Given the description of an element on the screen output the (x, y) to click on. 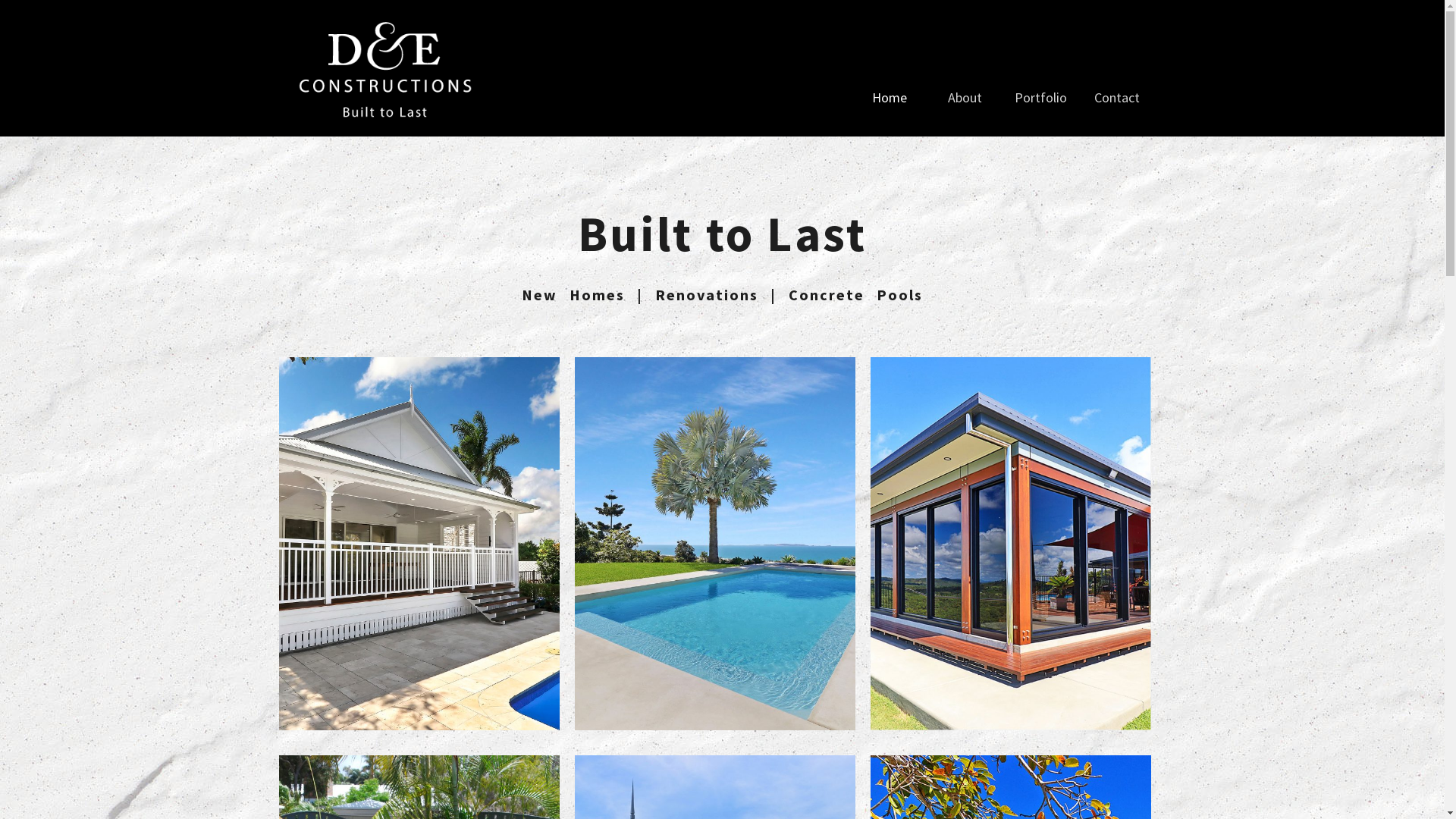
Portfolio Element type: text (1040, 98)
Contact Element type: text (1116, 98)
Home Element type: text (888, 98)
About Element type: text (964, 98)
